Given the description of an element on the screen output the (x, y) to click on. 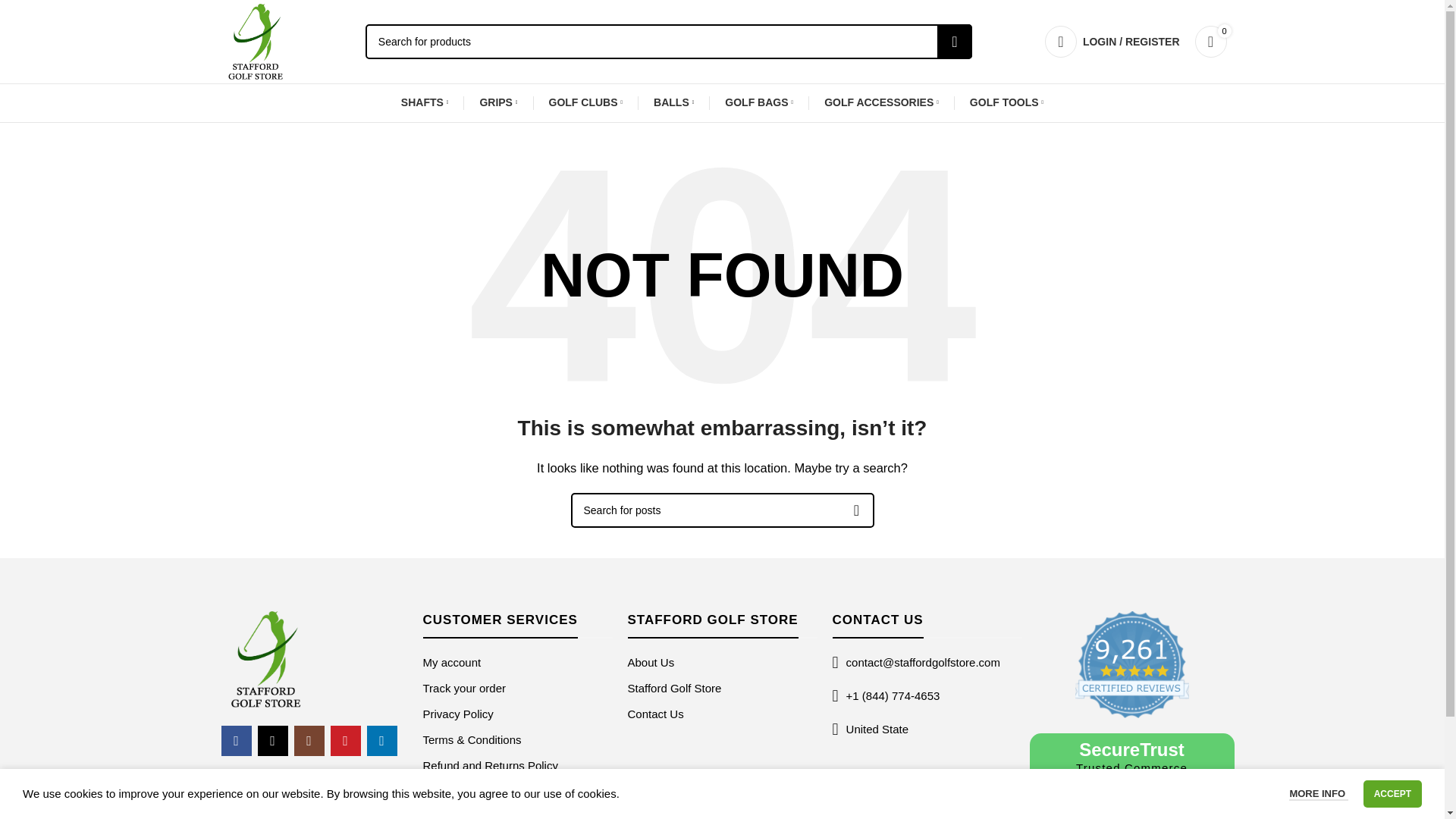
Search for posts (721, 510)
Review (1132, 664)
SEARCH (954, 41)
SHAFTS (424, 102)
My account (1112, 41)
Shopping cart (1211, 41)
Search for products (668, 41)
0 (1211, 41)
